Given the description of an element on the screen output the (x, y) to click on. 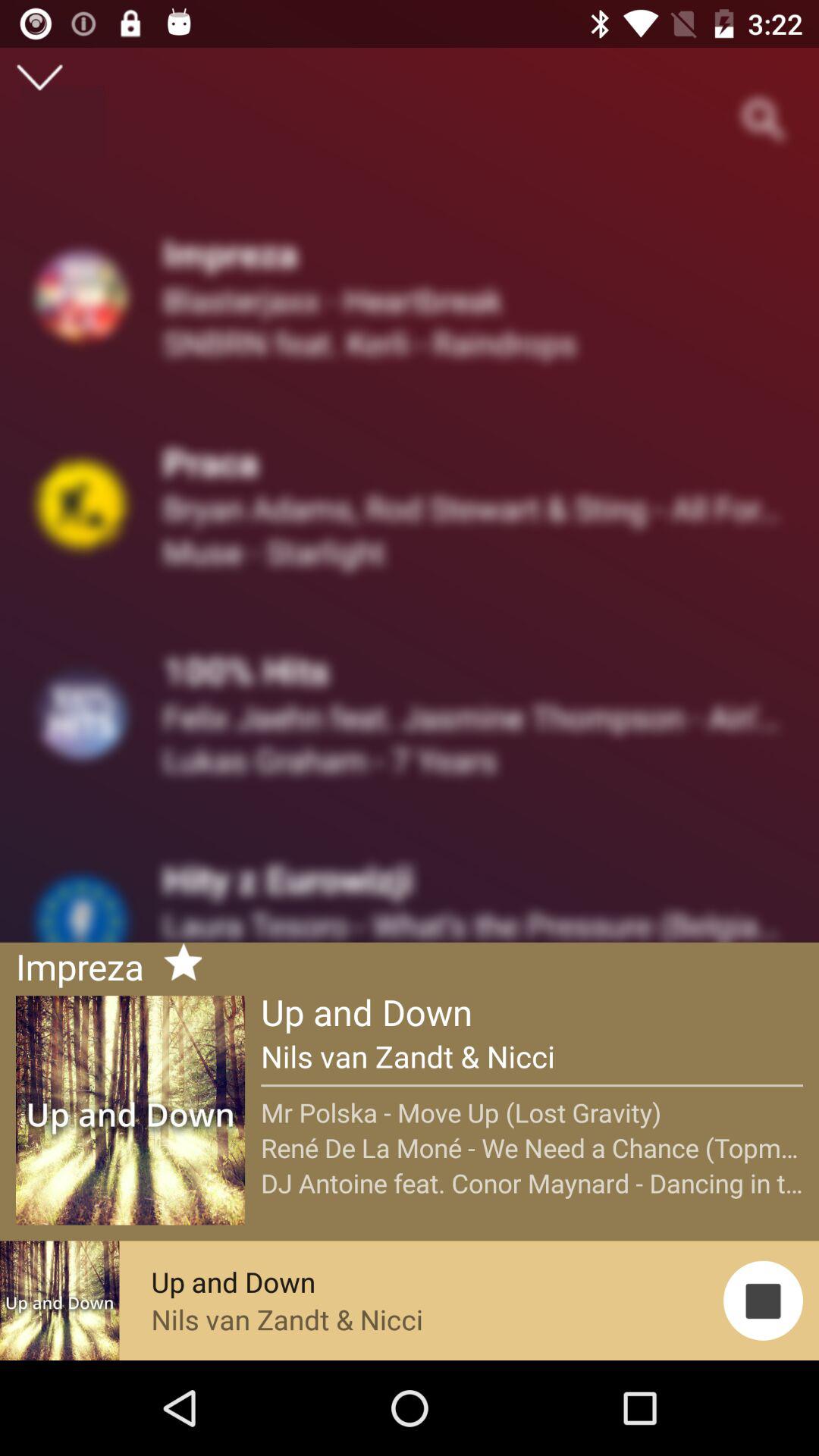
turn off item to the right of nils van zandt item (763, 1300)
